Given the description of an element on the screen output the (x, y) to click on. 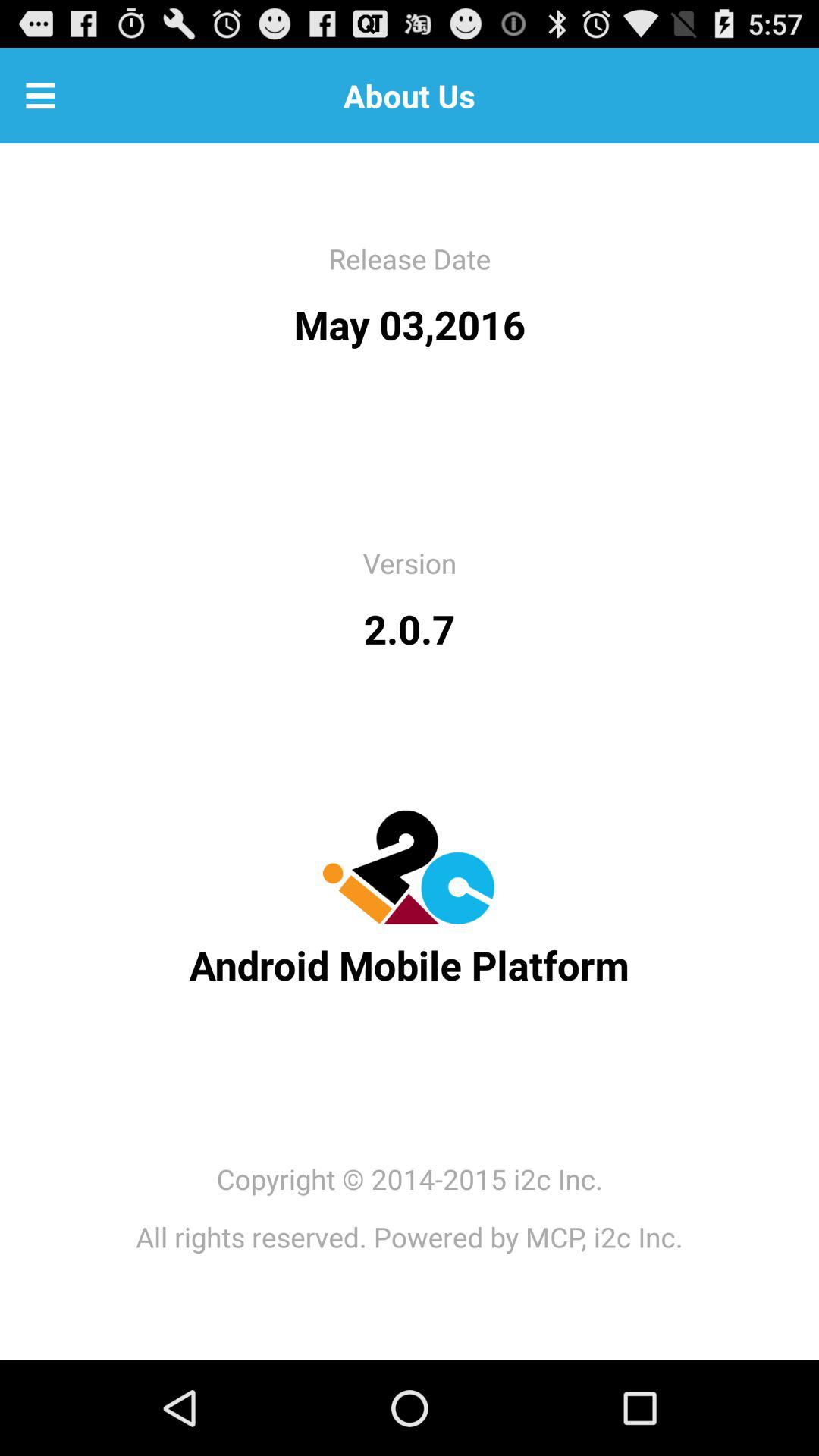
open the app to the left of about us icon (39, 95)
